Given the description of an element on the screen output the (x, y) to click on. 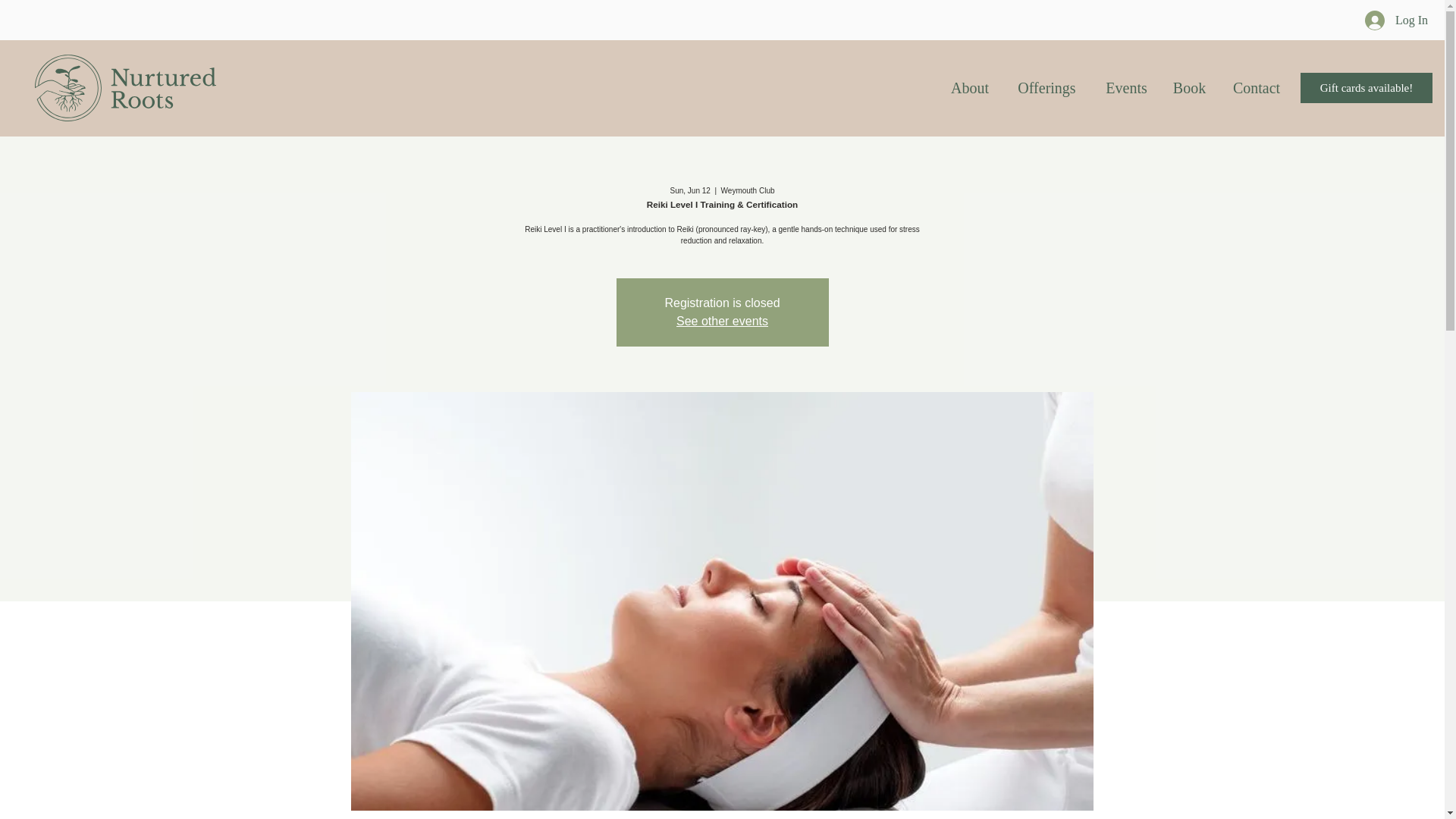
About (969, 87)
Gift cards available! (1366, 87)
Contact (1256, 87)
See other events (722, 320)
Events (1126, 87)
Book (1188, 87)
Offerings (1046, 87)
Log In (1396, 20)
